Given the description of an element on the screen output the (x, y) to click on. 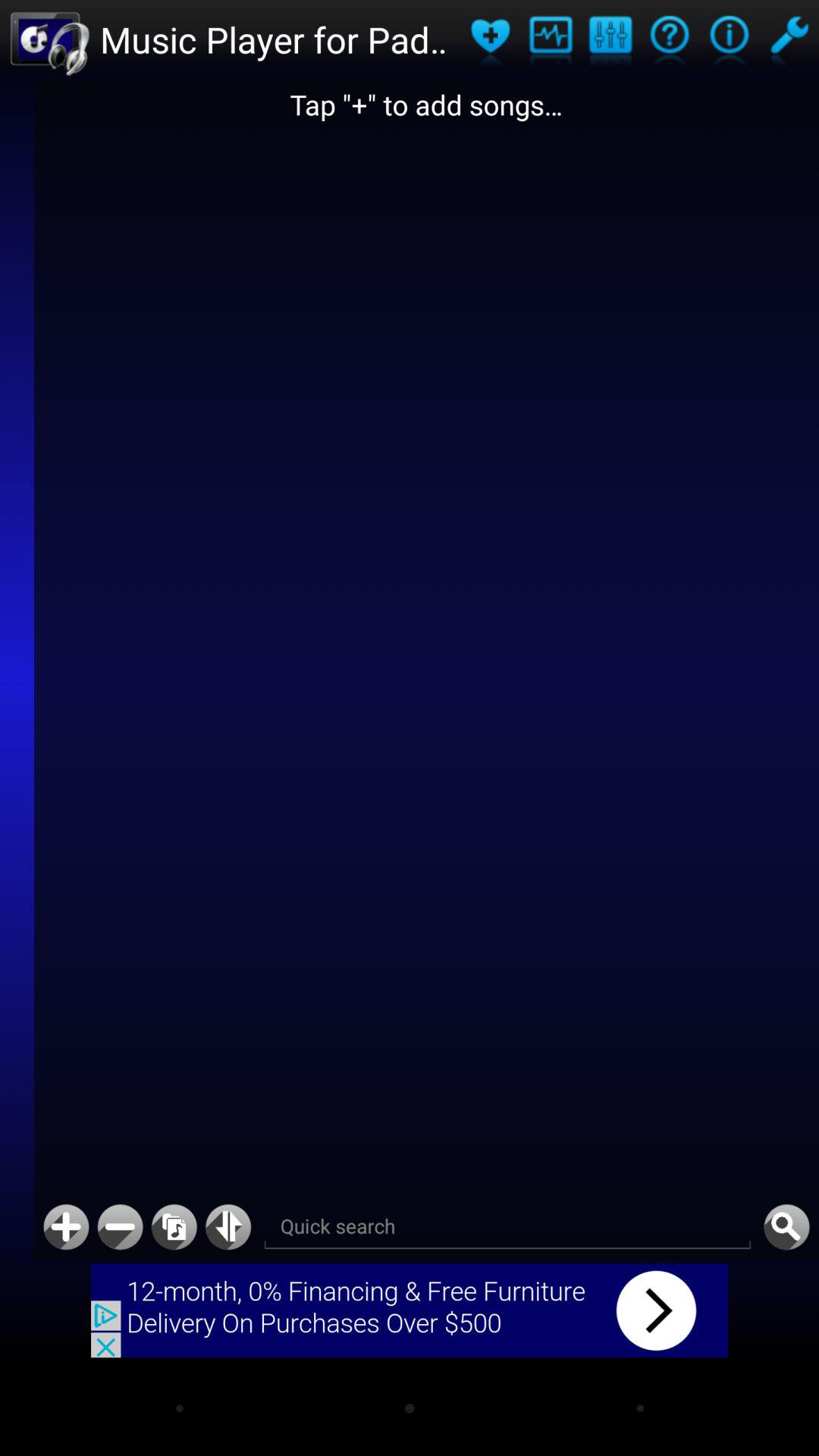
quick page (228, 1226)
